Given the description of an element on the screen output the (x, y) to click on. 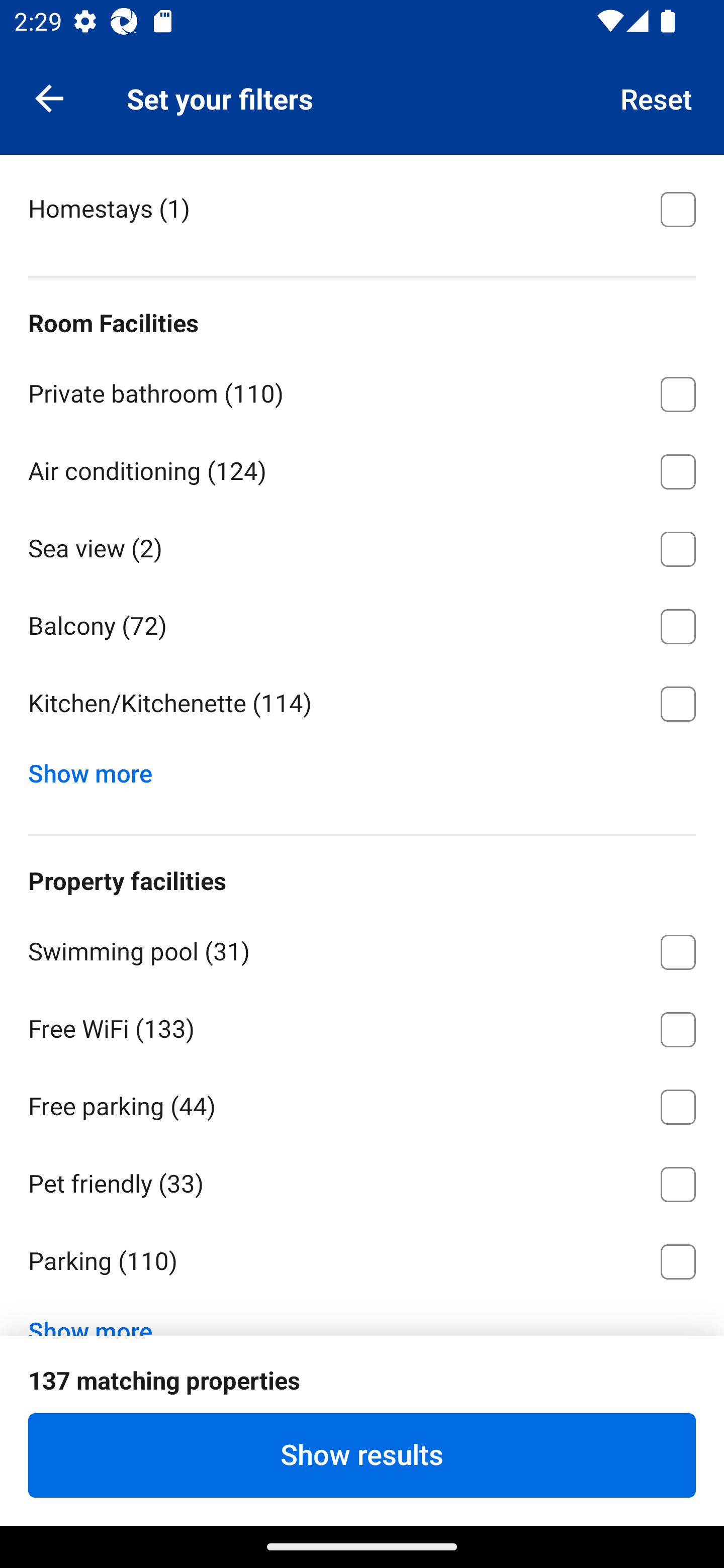
Navigate up (49, 97)
Reset (656, 97)
Homestays ⁦(1) (361, 207)
Private bathroom ⁦(110) (361, 390)
Air conditioning ⁦(124) (361, 467)
Sea view ⁦(2) (361, 545)
Balcony ⁦(72) (361, 622)
Kitchen/Kitchenette ⁦(114) (361, 703)
Show more (97, 768)
Swimming pool ⁦(31) (361, 948)
Free WiFi ⁦(133) (361, 1025)
Free parking ⁦(44) (361, 1103)
Pet friendly ⁦(33) (361, 1181)
Parking ⁦(110) (361, 1261)
Show results (361, 1454)
